Given the description of an element on the screen output the (x, y) to click on. 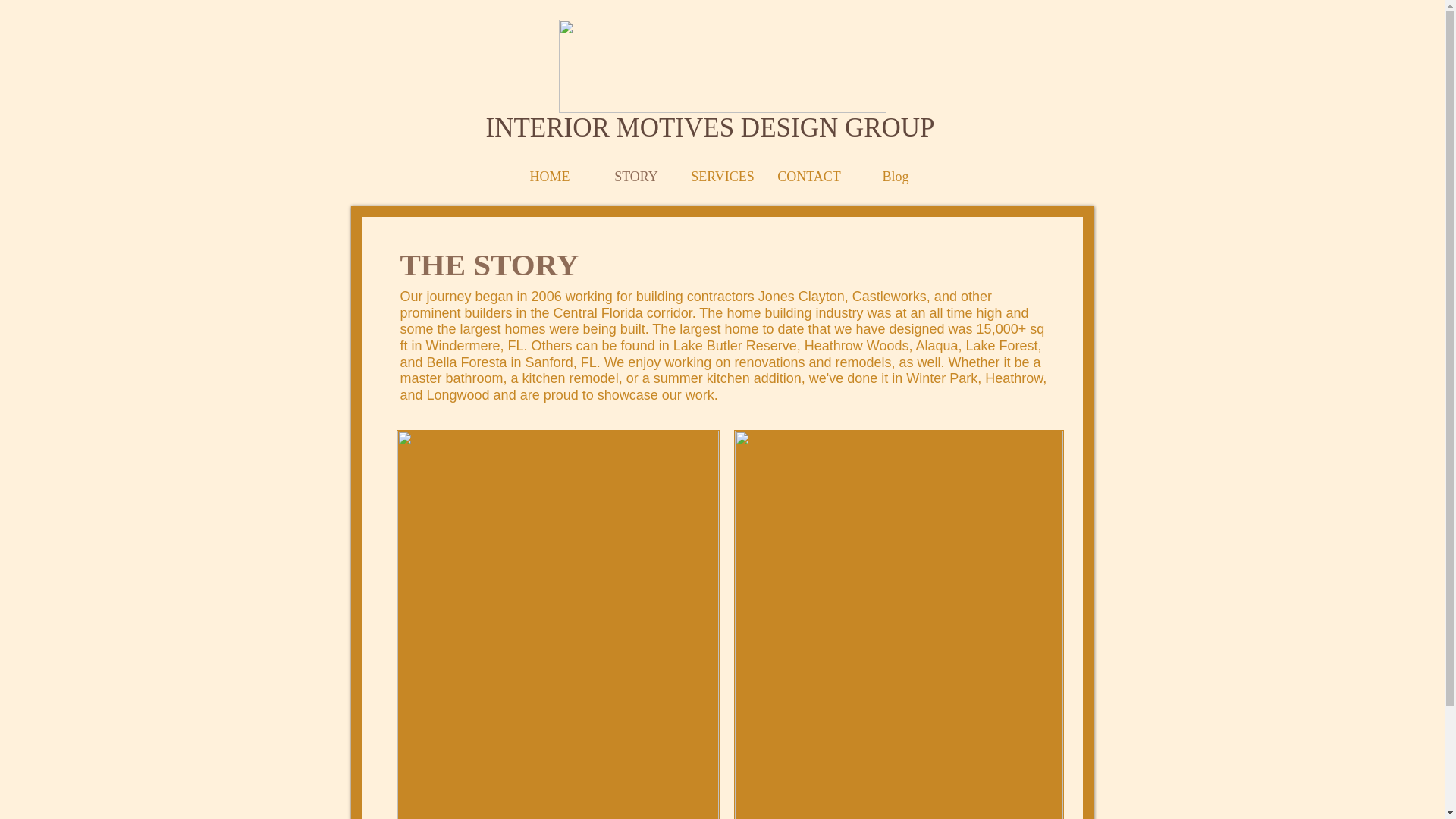
INTERIOR MOTIVES DESIGN GROUP (709, 127)
CONTACT (808, 176)
STORY (635, 176)
HOME (549, 176)
Blog (895, 176)
SERVICES (722, 176)
